Given the description of an element on the screen output the (x, y) to click on. 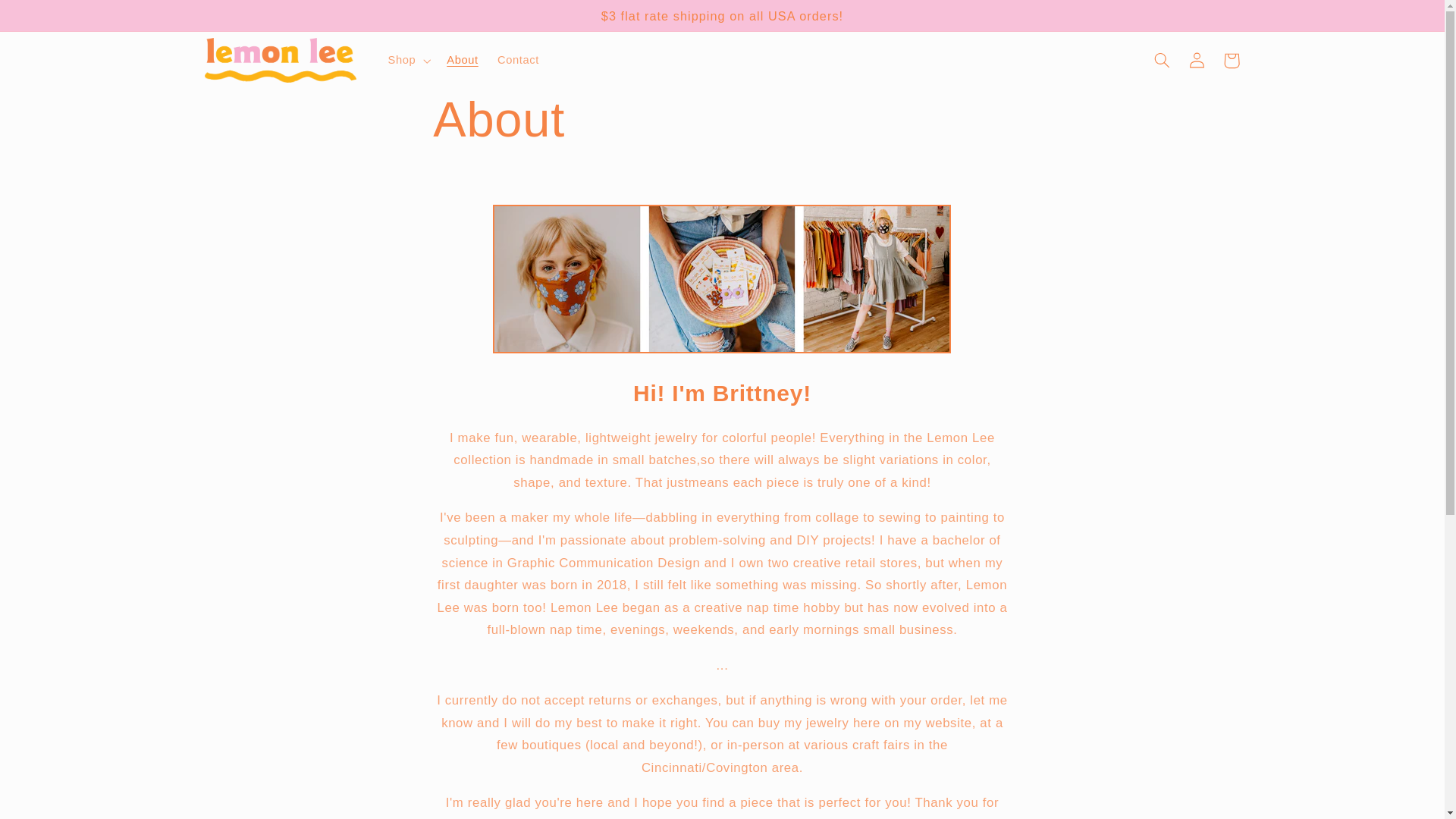
Skip to content (48, 18)
Contact (517, 60)
About (462, 60)
Log in (1196, 60)
Cart (1231, 60)
